Given the description of an element on the screen output the (x, y) to click on. 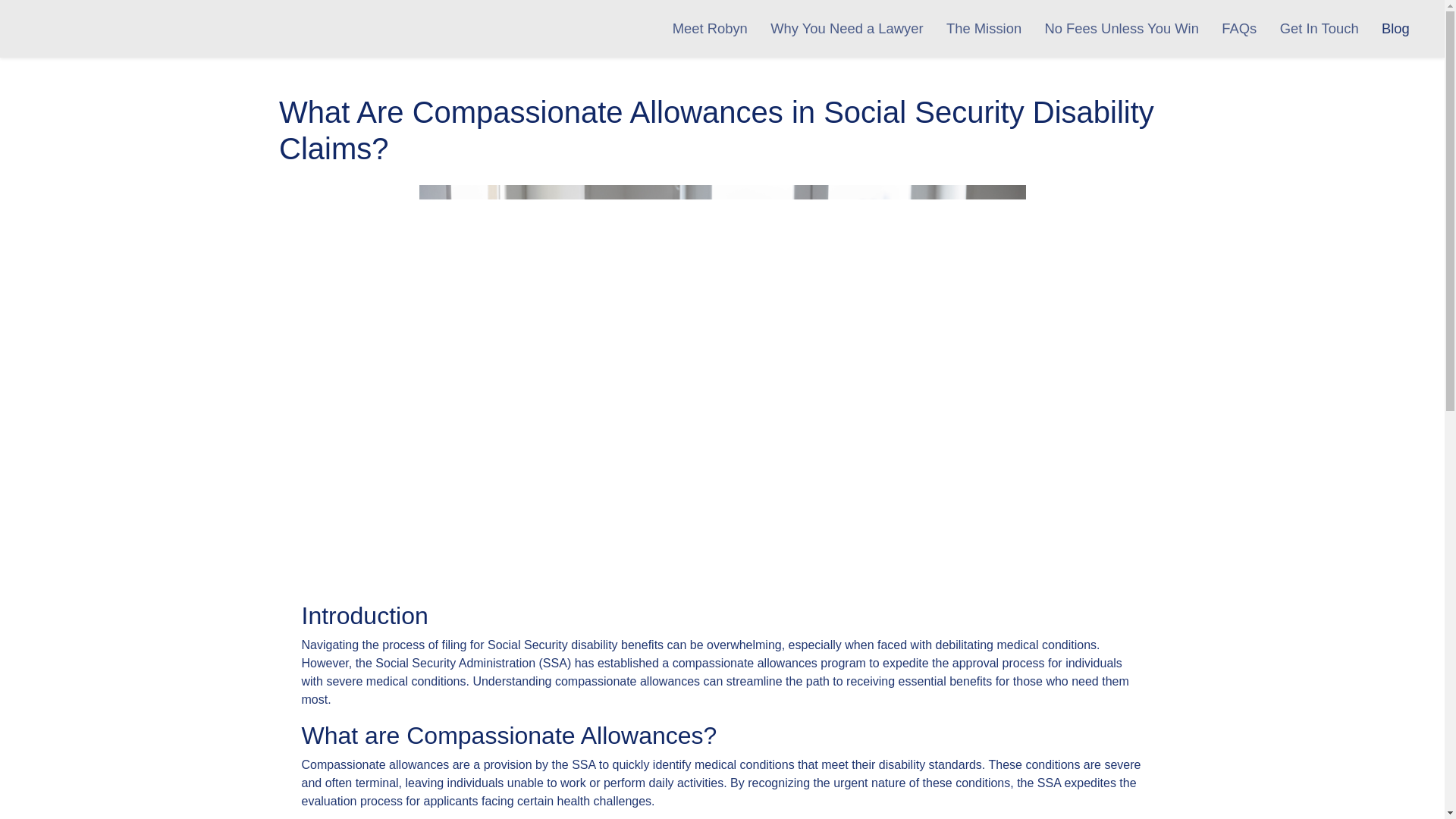
Blog (1395, 28)
No Fees Unless You Win (1120, 28)
Why You Need a Lawyer (846, 28)
Meet Robyn (709, 28)
FAQs (1238, 28)
Get In Touch (1319, 28)
The Mission (983, 28)
